Given the description of an element on the screen output the (x, y) to click on. 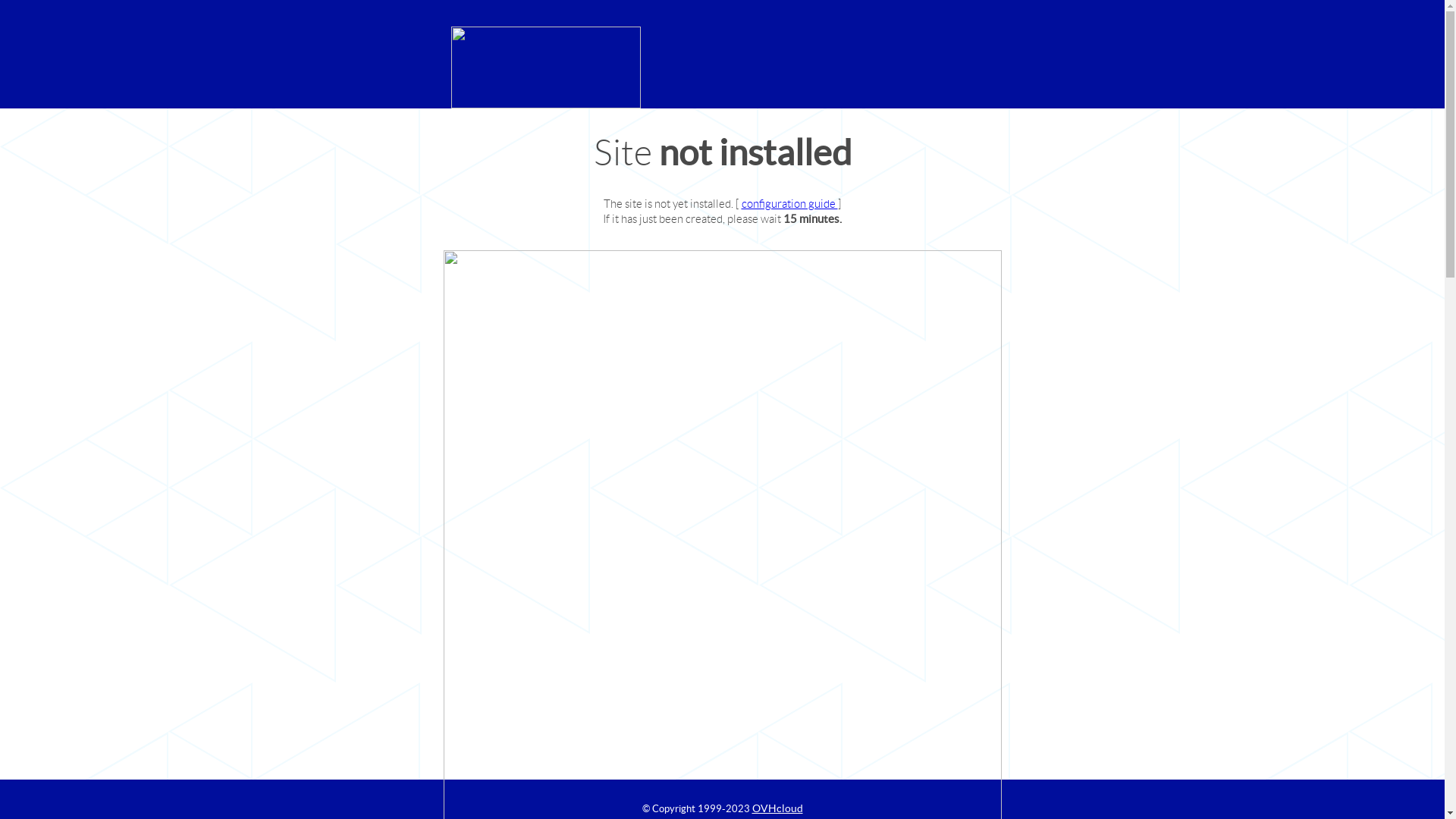
configuration guide Element type: text (789, 203)
OVHcloud Element type: text (777, 808)
